Given the description of an element on the screen output the (x, y) to click on. 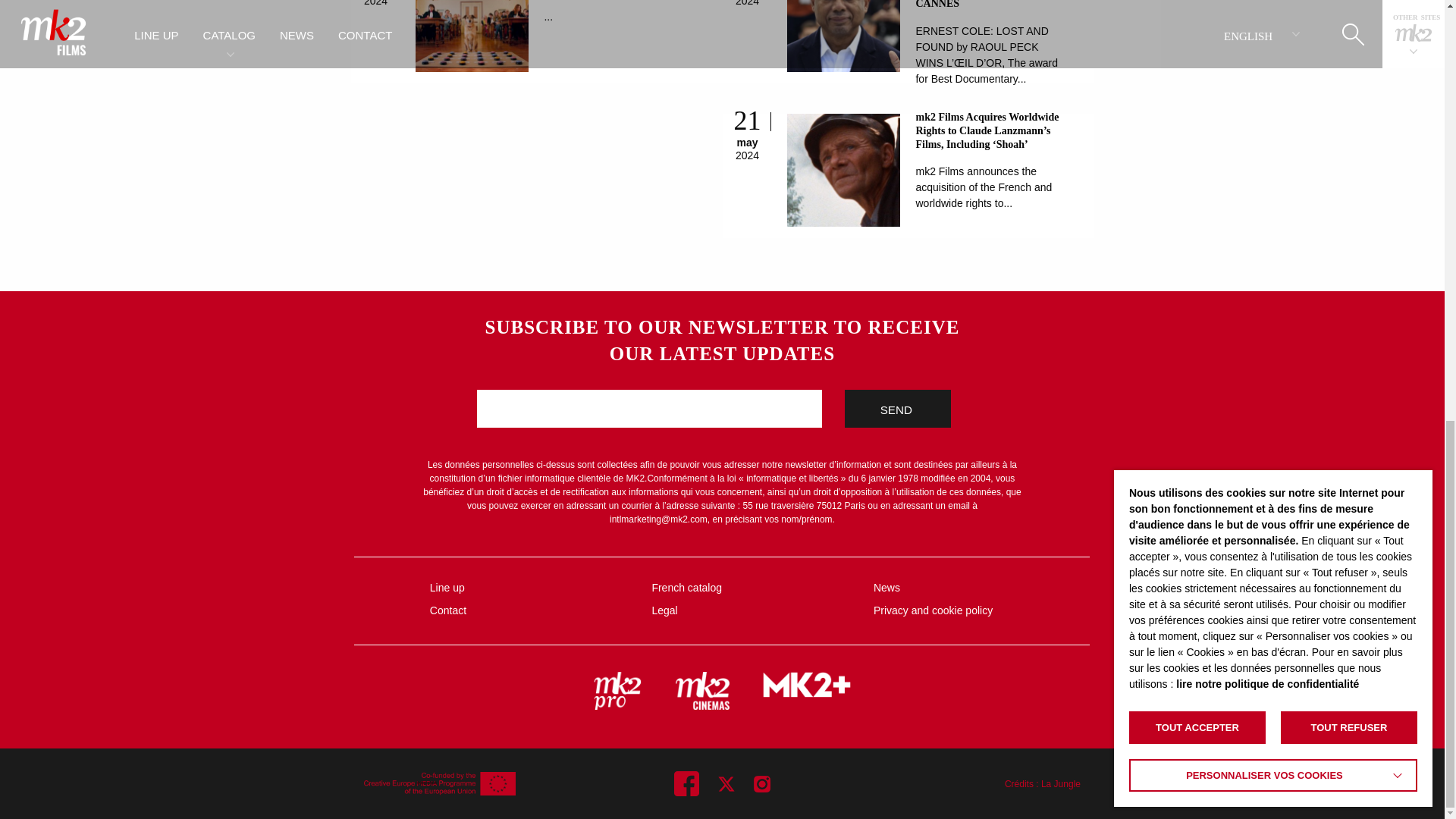
Legal (750, 609)
Contact (528, 609)
send (897, 408)
News (972, 587)
Line up (528, 587)
send (897, 408)
French catalog (750, 587)
Privacy and cookie policy (972, 609)
